Given the description of an element on the screen output the (x, y) to click on. 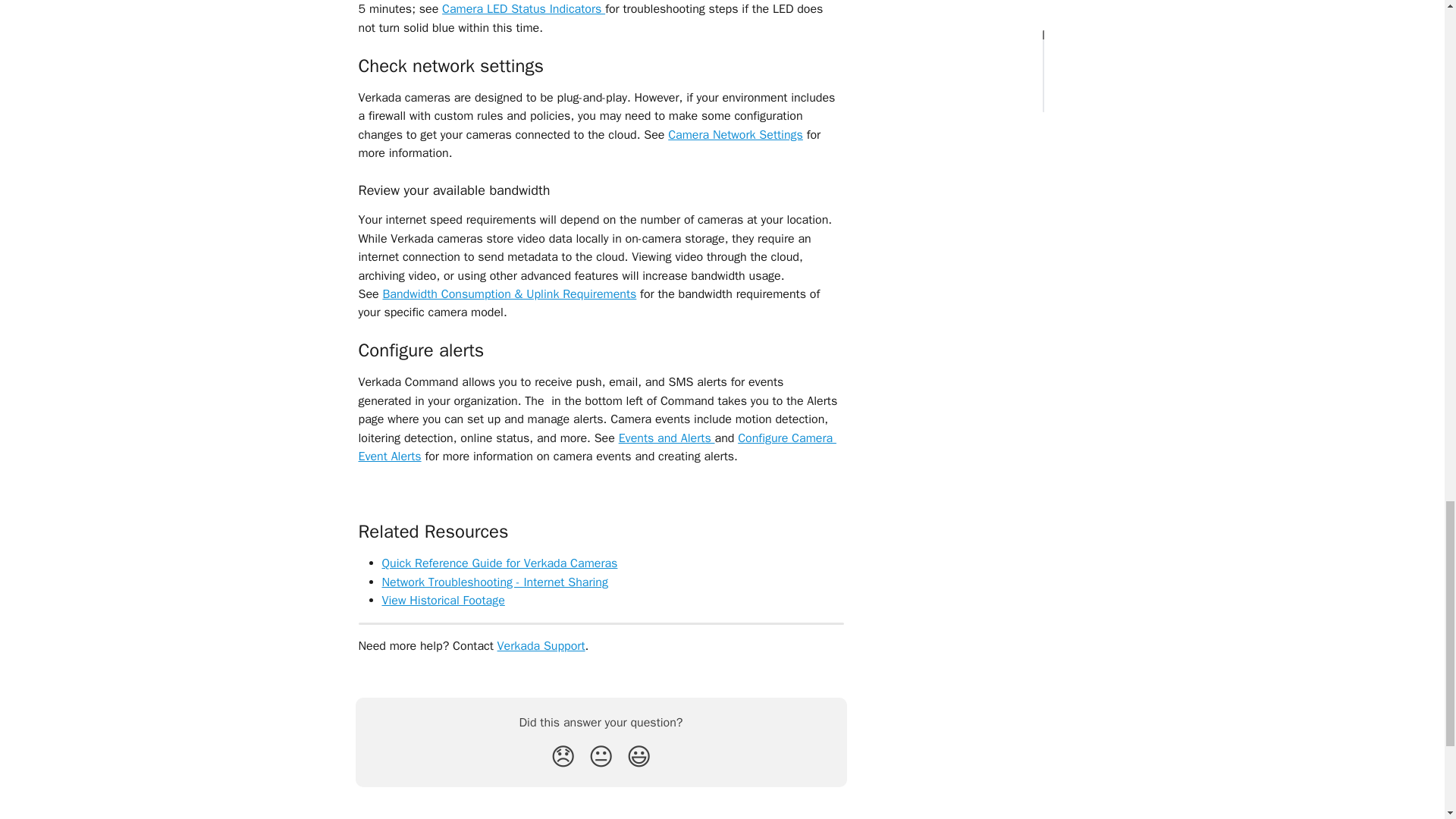
Configure Camera Event Alerts (596, 447)
Events and Alerts (666, 437)
Camera LED Status Indicators (523, 8)
Quick Reference Guide for Verkada Cameras (499, 563)
Camera Network Settings (735, 134)
